Given the description of an element on the screen output the (x, y) to click on. 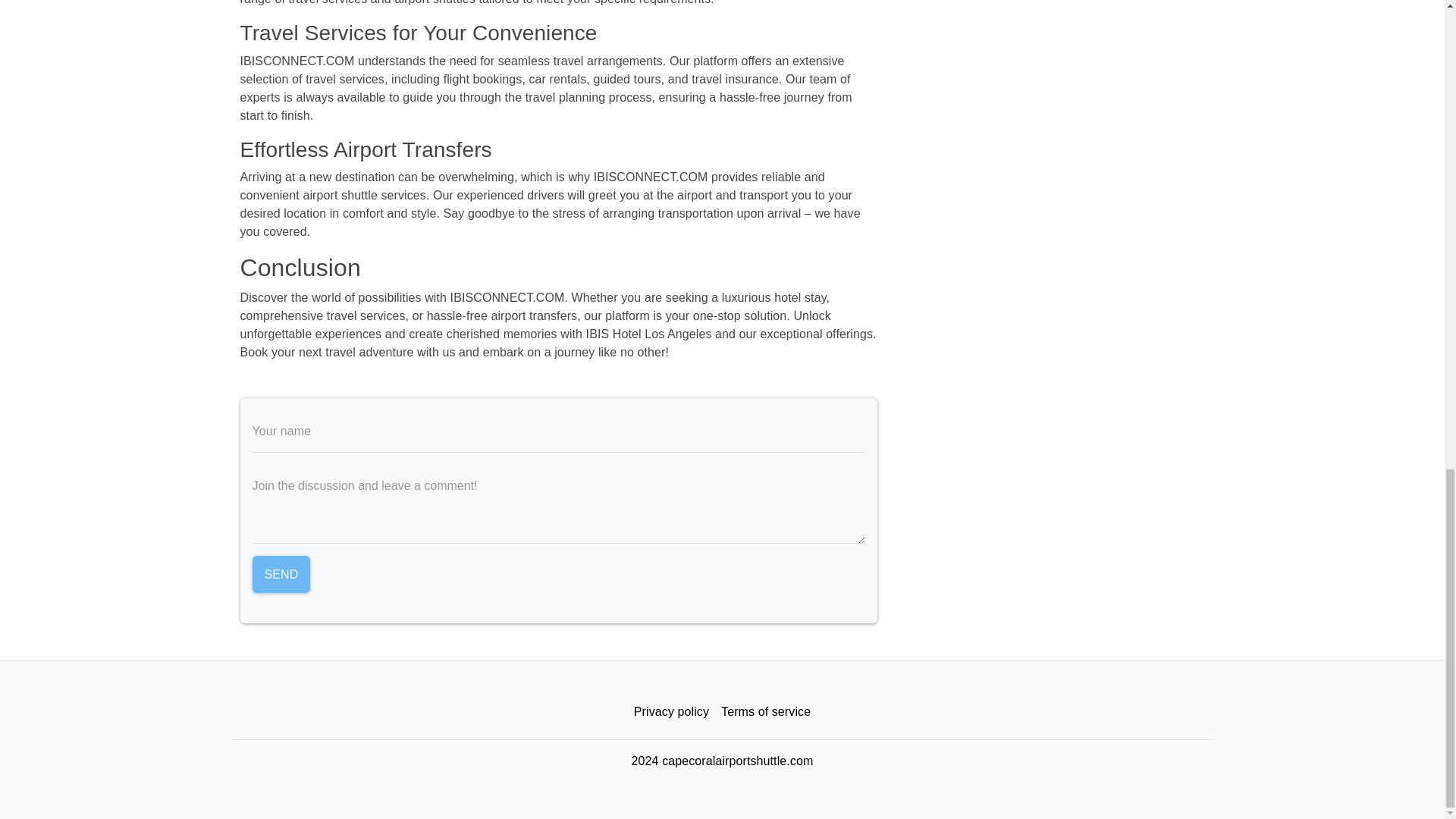
Send (280, 574)
Terms of service (765, 711)
Privacy policy (670, 711)
Send (280, 574)
